Given the description of an element on the screen output the (x, y) to click on. 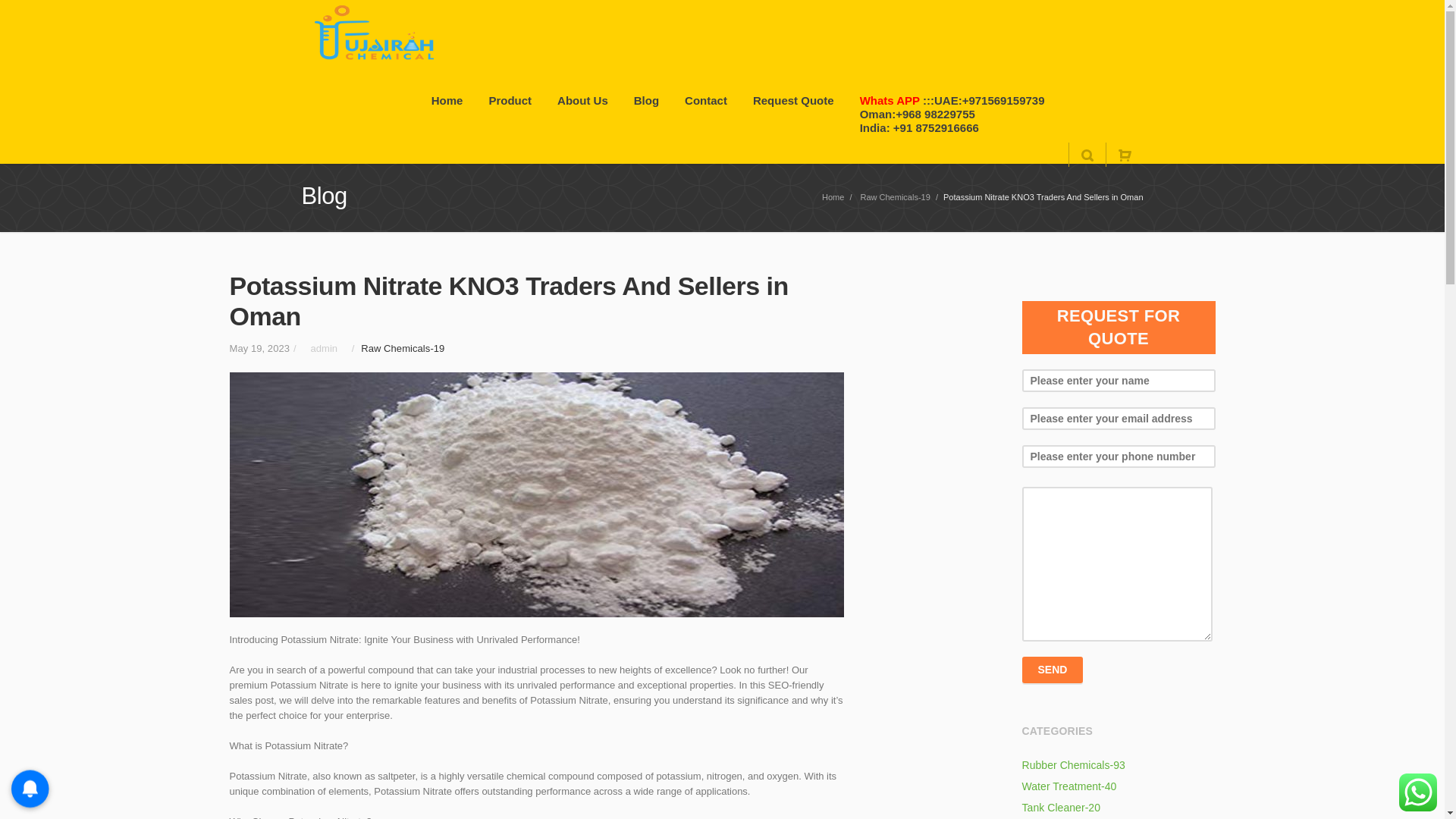
Search (1086, 154)
Request Quote (793, 101)
Contact (705, 101)
Raw Chemicals-19 (895, 196)
Send (1052, 669)
Blog (646, 101)
Product (509, 101)
About Us (582, 101)
Home (833, 196)
Raw Chemicals-19 (402, 348)
Home (446, 101)
Cart (1123, 154)
